Given the description of an element on the screen output the (x, y) to click on. 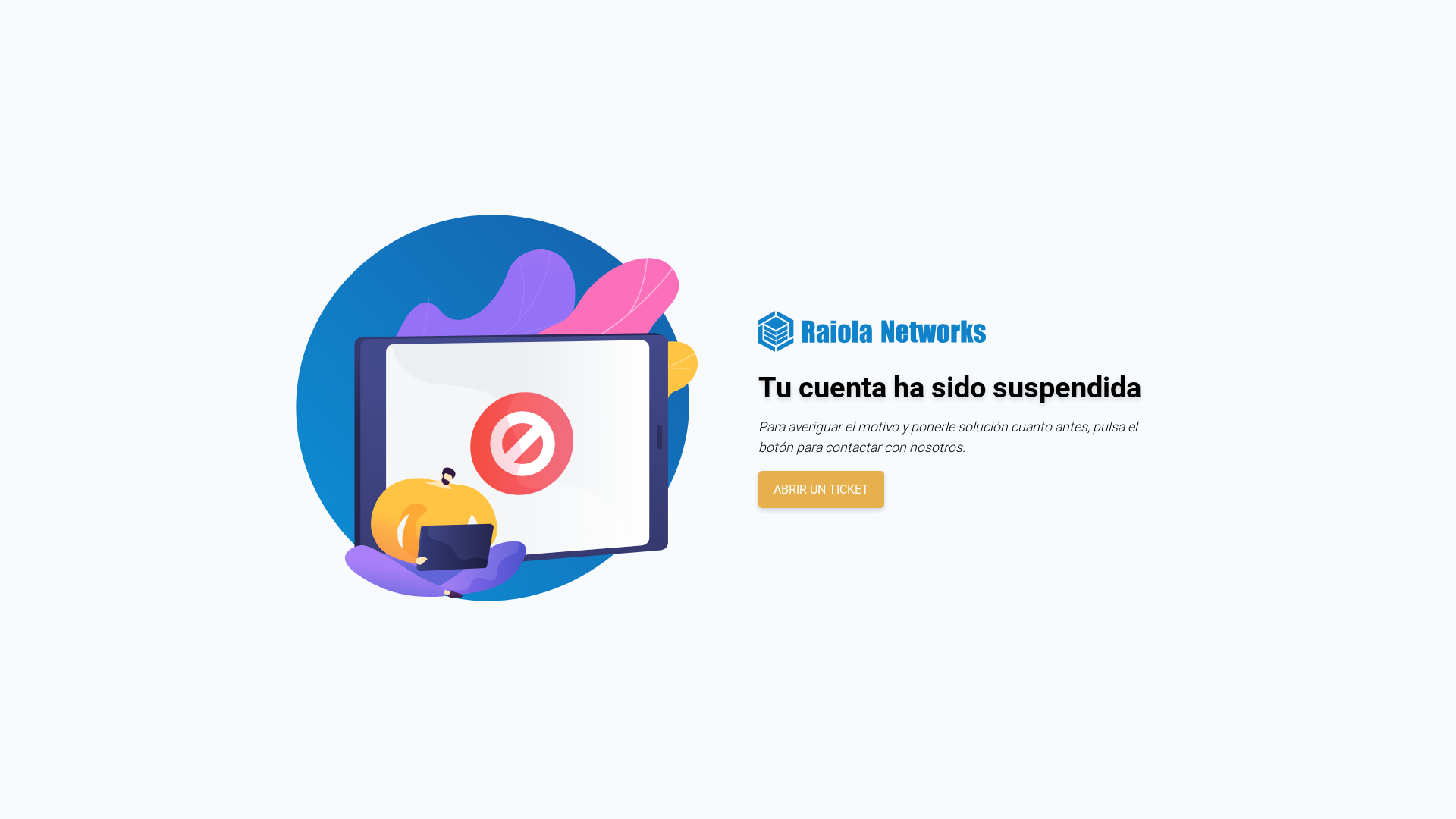
ABRIR UN TICKET Element type: text (821, 489)
